Given the description of an element on the screen output the (x, y) to click on. 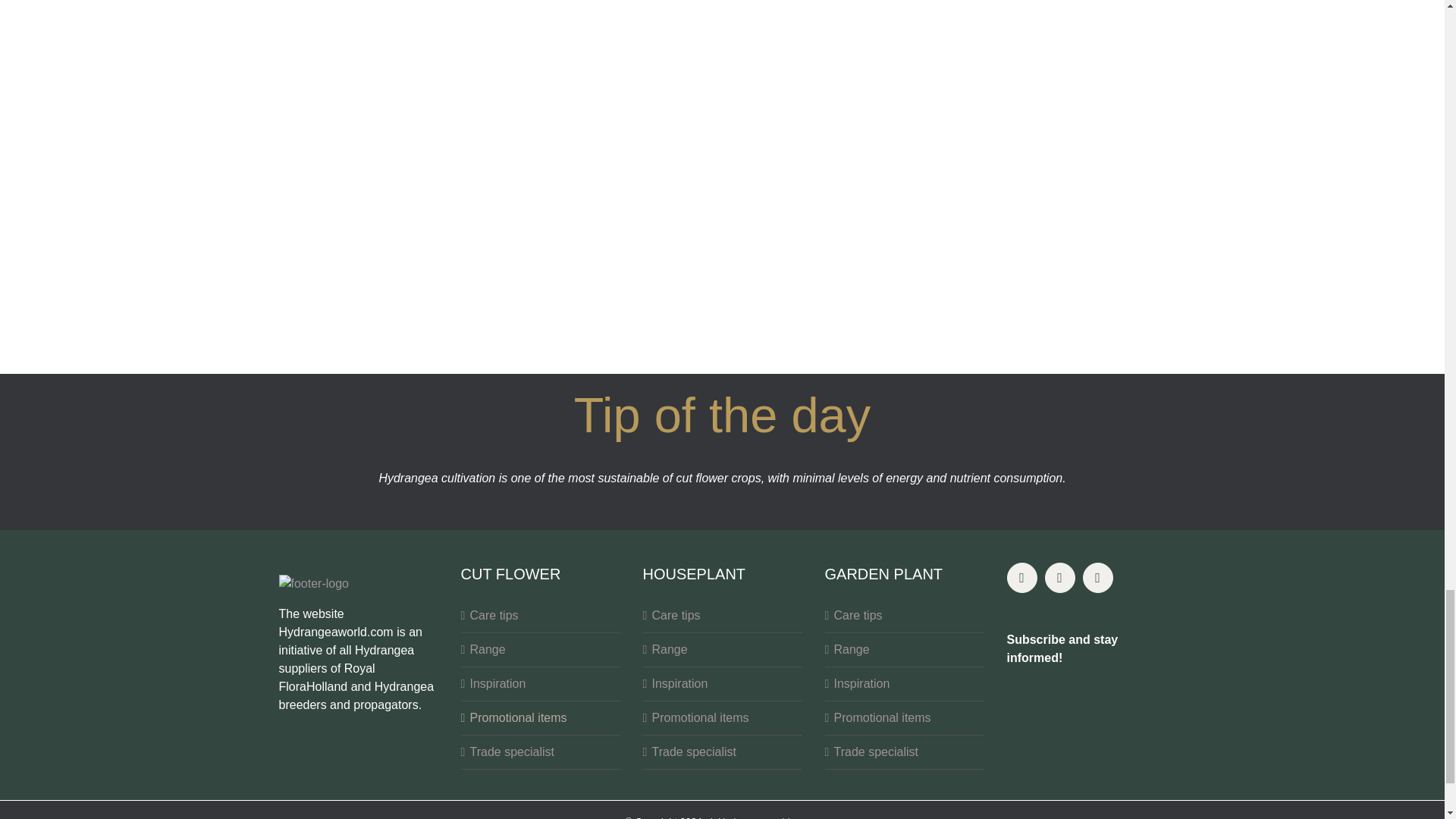
Facebook (1021, 577)
Instagram (1060, 577)
